Given the description of an element on the screen output the (x, y) to click on. 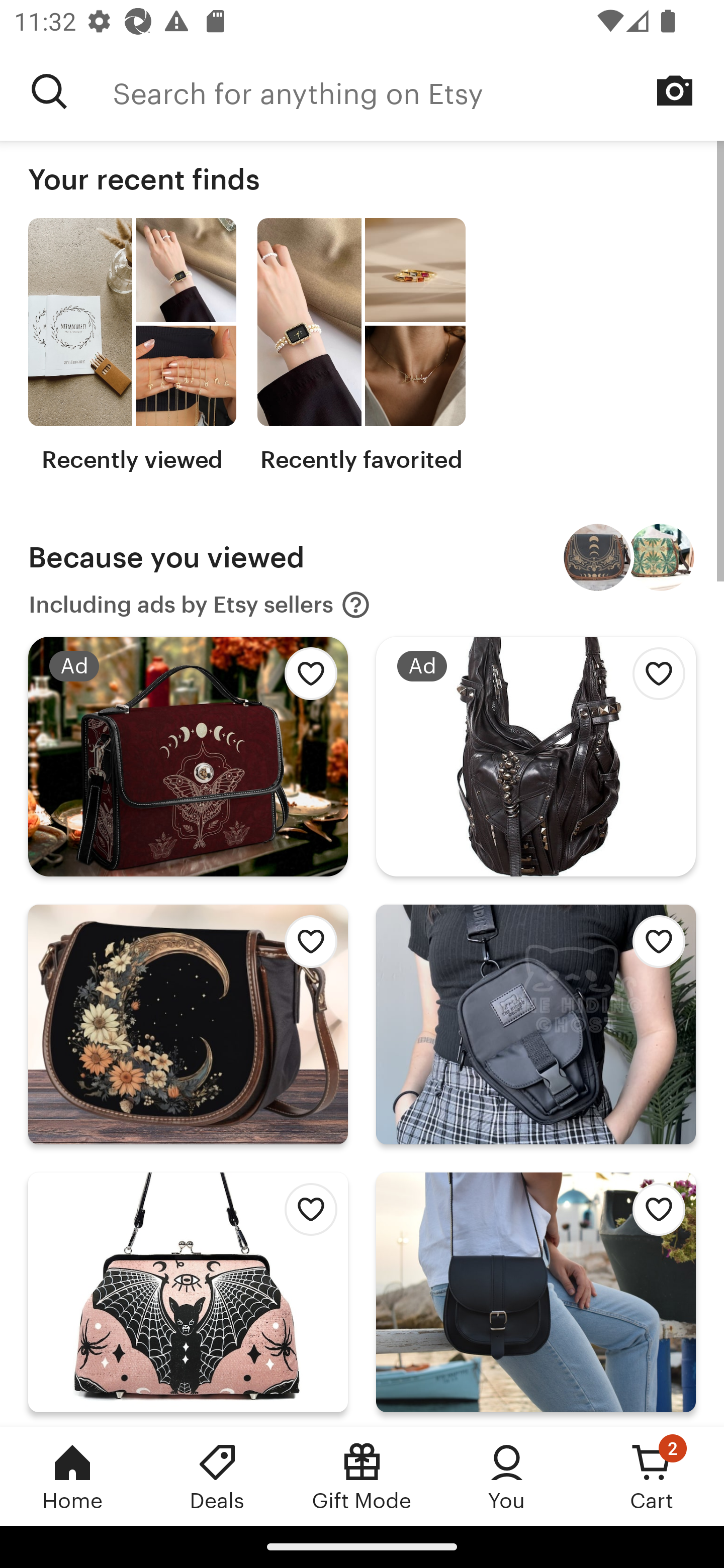
Search for anything on Etsy (49, 91)
Search by image (674, 90)
Search for anything on Etsy (418, 91)
Recently viewed (132, 345)
Recently favorited (361, 345)
Including ads by Etsy sellers (199, 604)
Deals (216, 1475)
Gift Mode (361, 1475)
You (506, 1475)
Cart, 2 new notifications Cart (651, 1475)
